Given the description of an element on the screen output the (x, y) to click on. 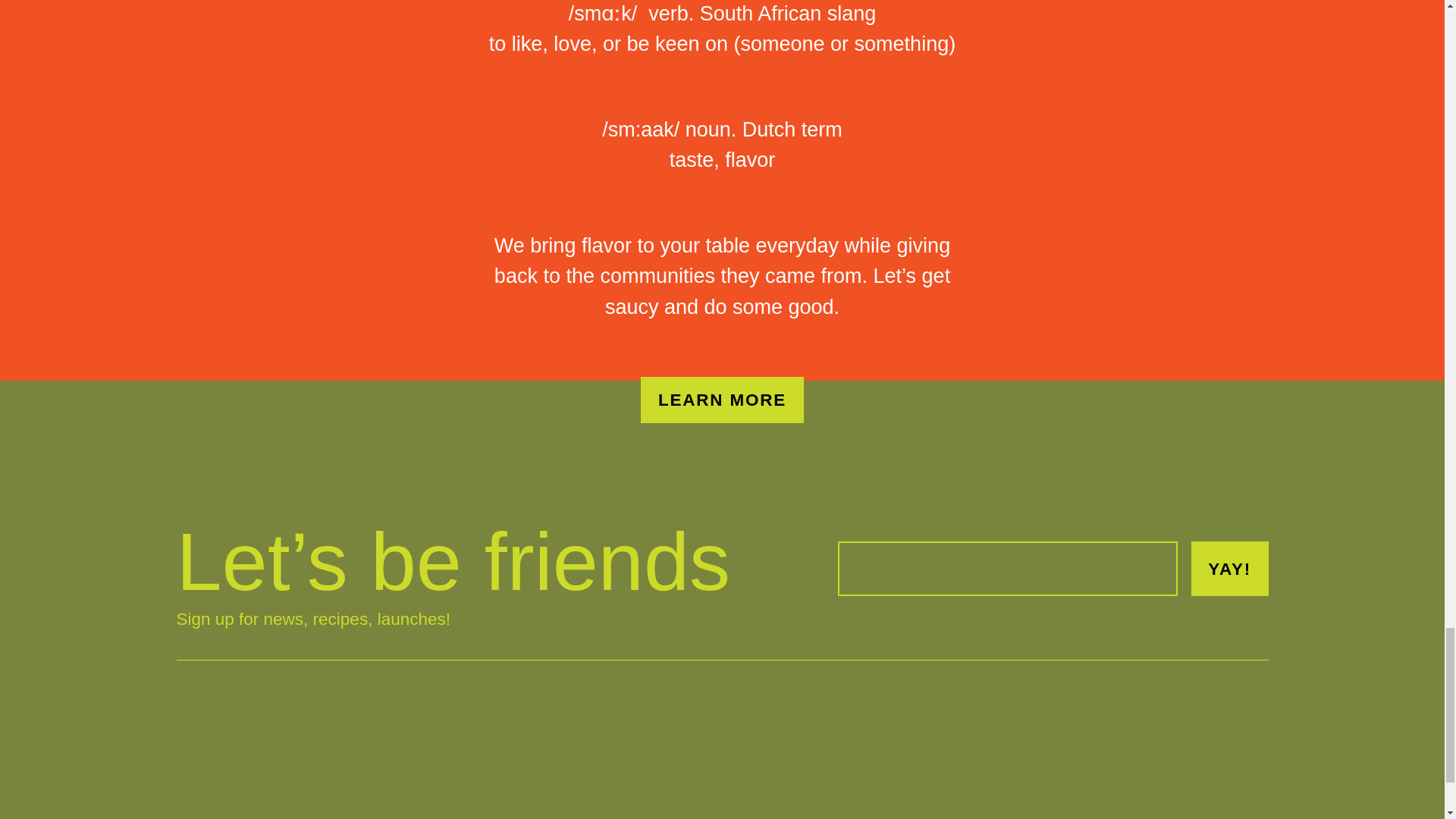
CONTACT (259, 777)
yay! (1229, 568)
yay! (1229, 568)
LEARN MORE (721, 399)
HOME (259, 700)
SHOP (259, 751)
ABOUT US (259, 726)
INSTAGRAM (259, 802)
